Given the description of an element on the screen output the (x, y) to click on. 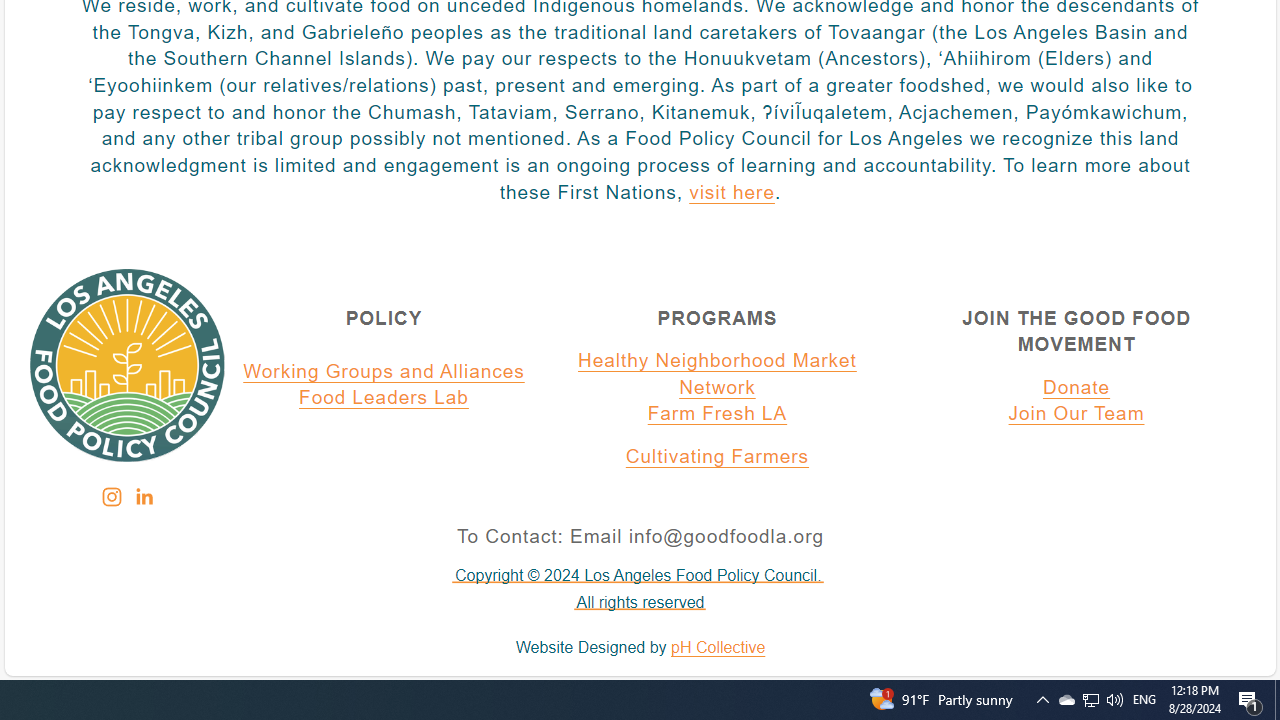
Join Our Team (1076, 415)
Food Leaders Lab (383, 399)
Healthy Neighborhood Market Network (717, 374)
Instagram (111, 497)
Donate (1076, 387)
pH Collective (717, 647)
Working Groups and Alliances (383, 371)
LinkedIn (143, 497)
visit here (731, 193)
Class: sqs-svg-icon--social (142, 496)
Farm Fresh LA (717, 415)
Cultivating Farmers  (717, 457)
